Given the description of an element on the screen output the (x, y) to click on. 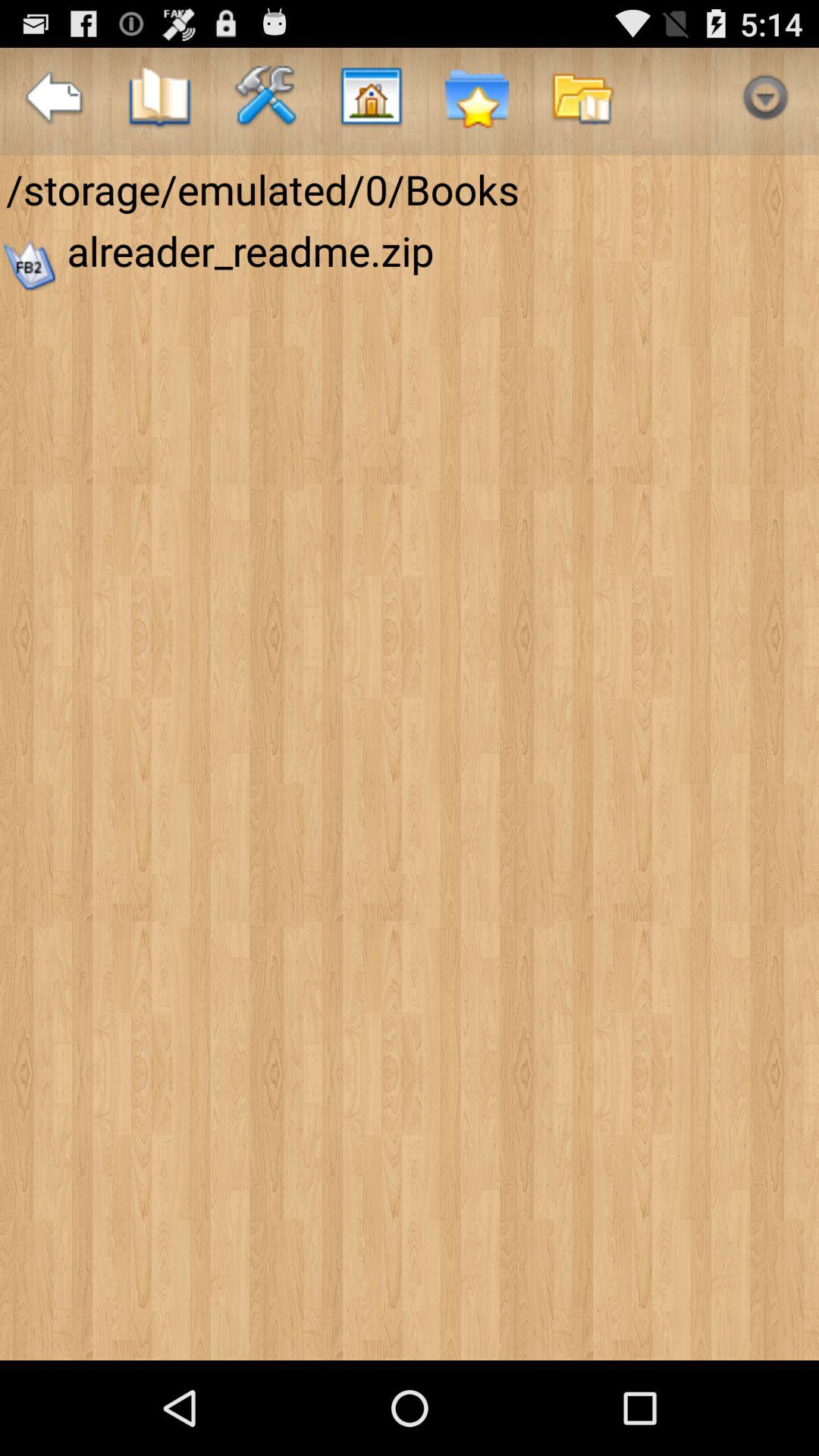
select the icon above storage emulated 0 (476, 101)
